Given the description of an element on the screen output the (x, y) to click on. 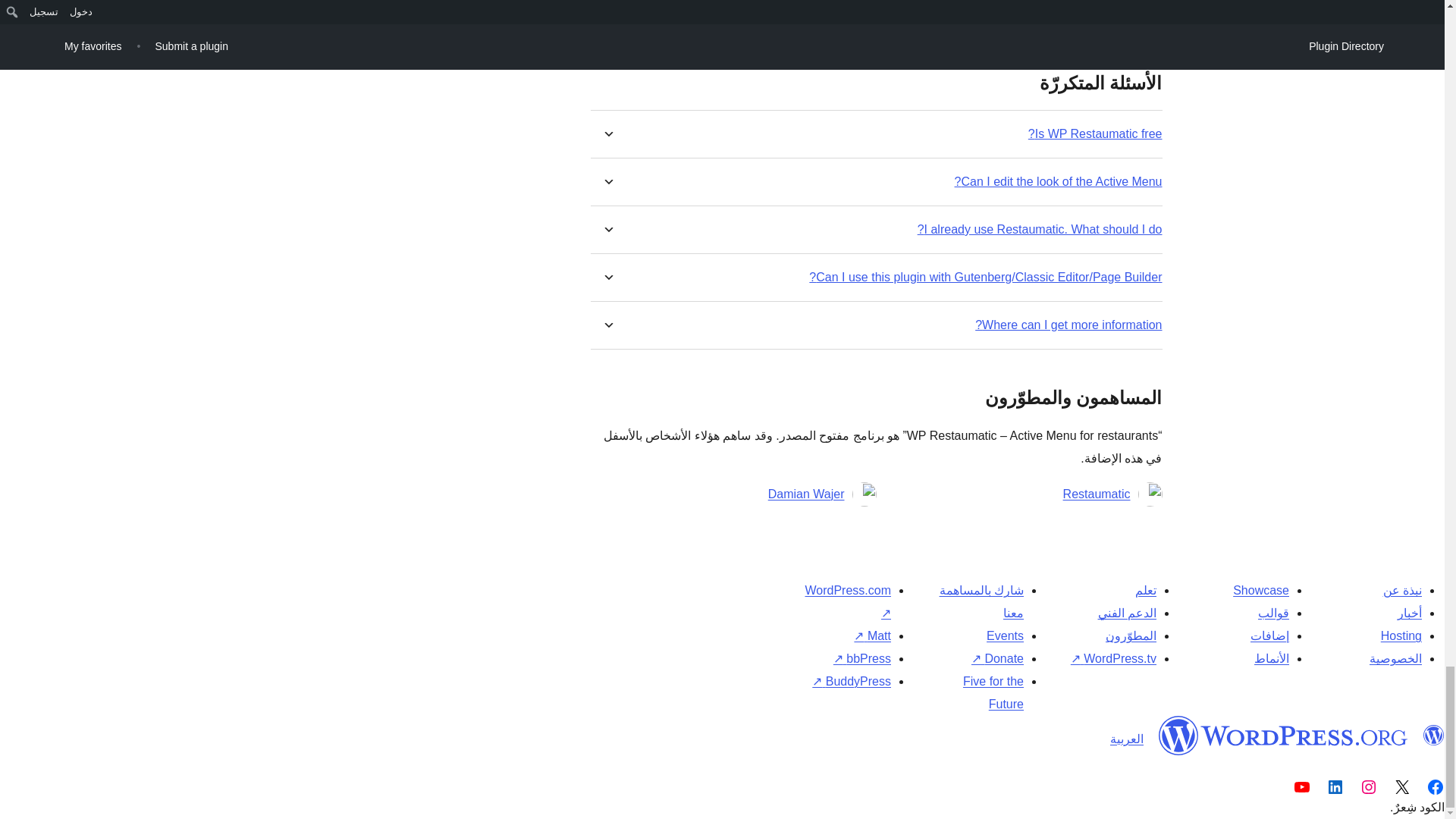
WordPress.org (1282, 735)
